Given the description of an element on the screen output the (x, y) to click on. 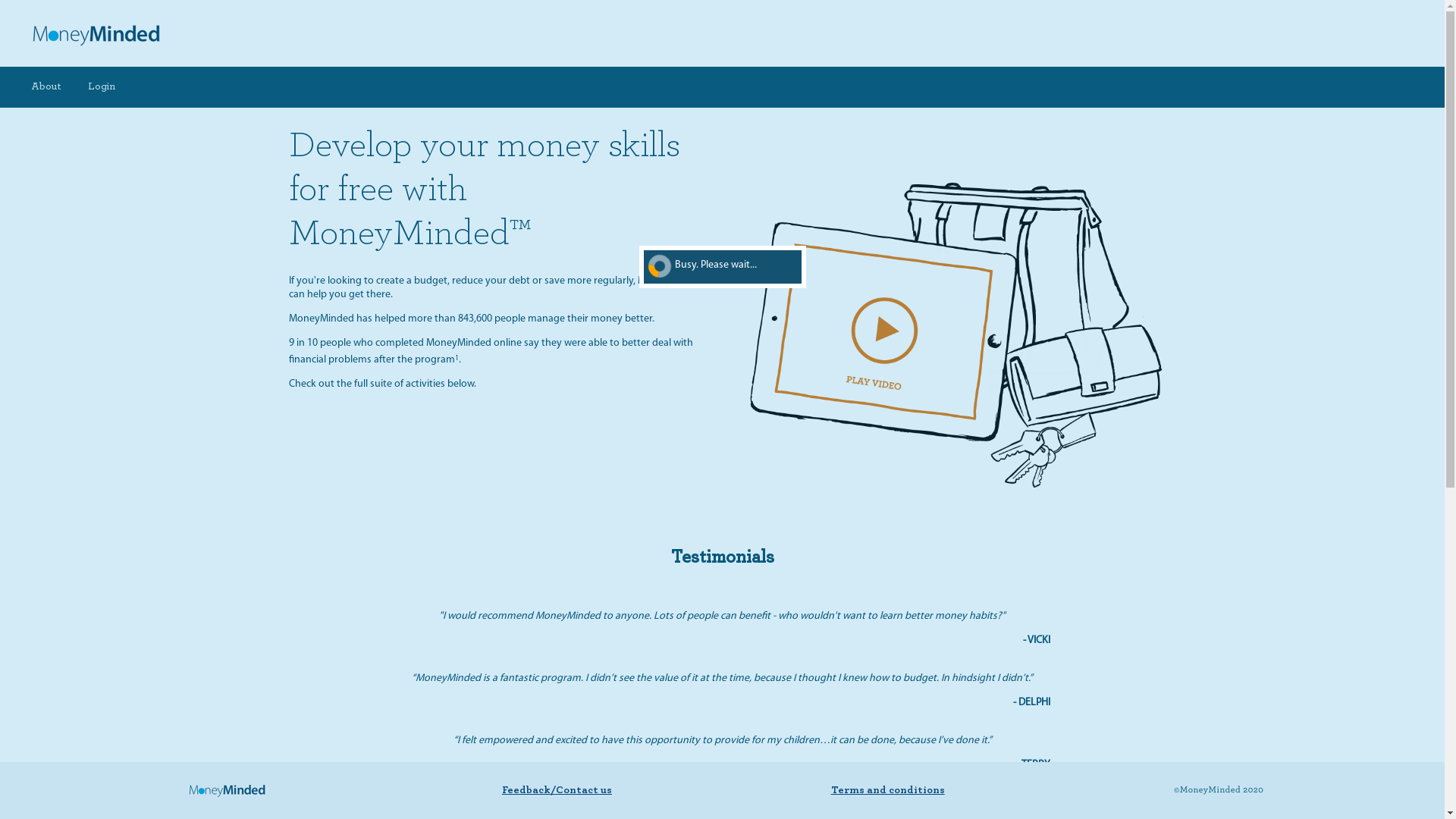
About Element type: text (45, 86)
Hero.png Element type: hover (954, 333)
Login Element type: text (101, 86)
Terms and conditions Element type: text (887, 789)
Feedback/Contact us Element type: text (556, 789)
